Given the description of an element on the screen output the (x, y) to click on. 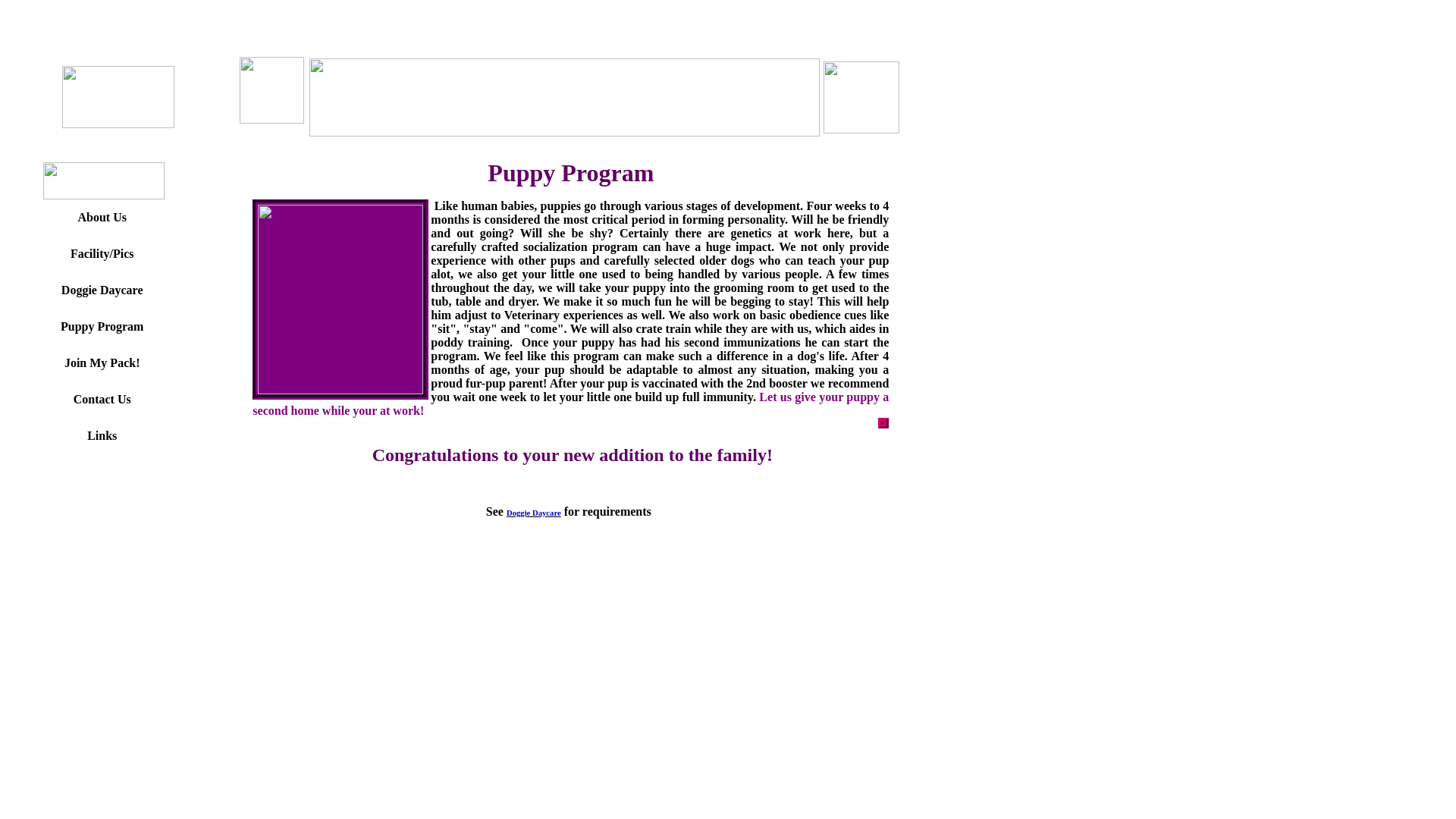
About Us (329, 571)
Doggie Daycare (101, 289)
Doggie Daycare (480, 571)
About Us (101, 216)
Web By DogWebs.Biz (481, 596)
Puppy Program (101, 326)
Links (101, 435)
Edit (554, 596)
Join My Pack! (665, 571)
Contact Us (742, 571)
Doggie Daycare (533, 511)
Puppy Program (573, 571)
Join My Pack! (101, 362)
Contact Us (102, 399)
Links (795, 571)
